Given the description of an element on the screen output the (x, y) to click on. 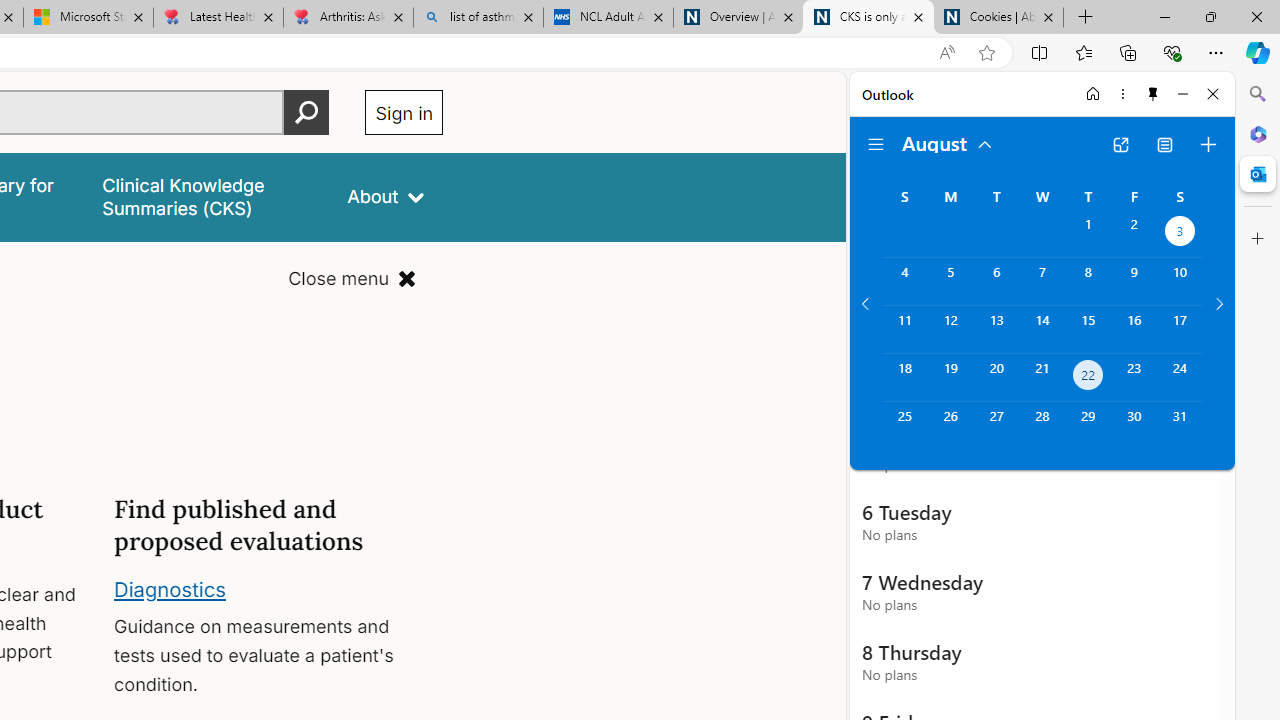
Tuesday, August 13, 2024.  (996, 329)
Close menu (352, 278)
Saturday, August 17, 2024.  (1180, 329)
Folder navigation (876, 144)
Tuesday, August 6, 2024.  (996, 281)
August (948, 141)
Monday, August 12, 2024.  (950, 329)
Wednesday, August 14, 2024.  (1042, 329)
Friday, August 16, 2024.  (1134, 329)
Wednesday, August 21, 2024.  (1042, 377)
Monday, August 5, 2024.  (950, 281)
